Given the description of an element on the screen output the (x, y) to click on. 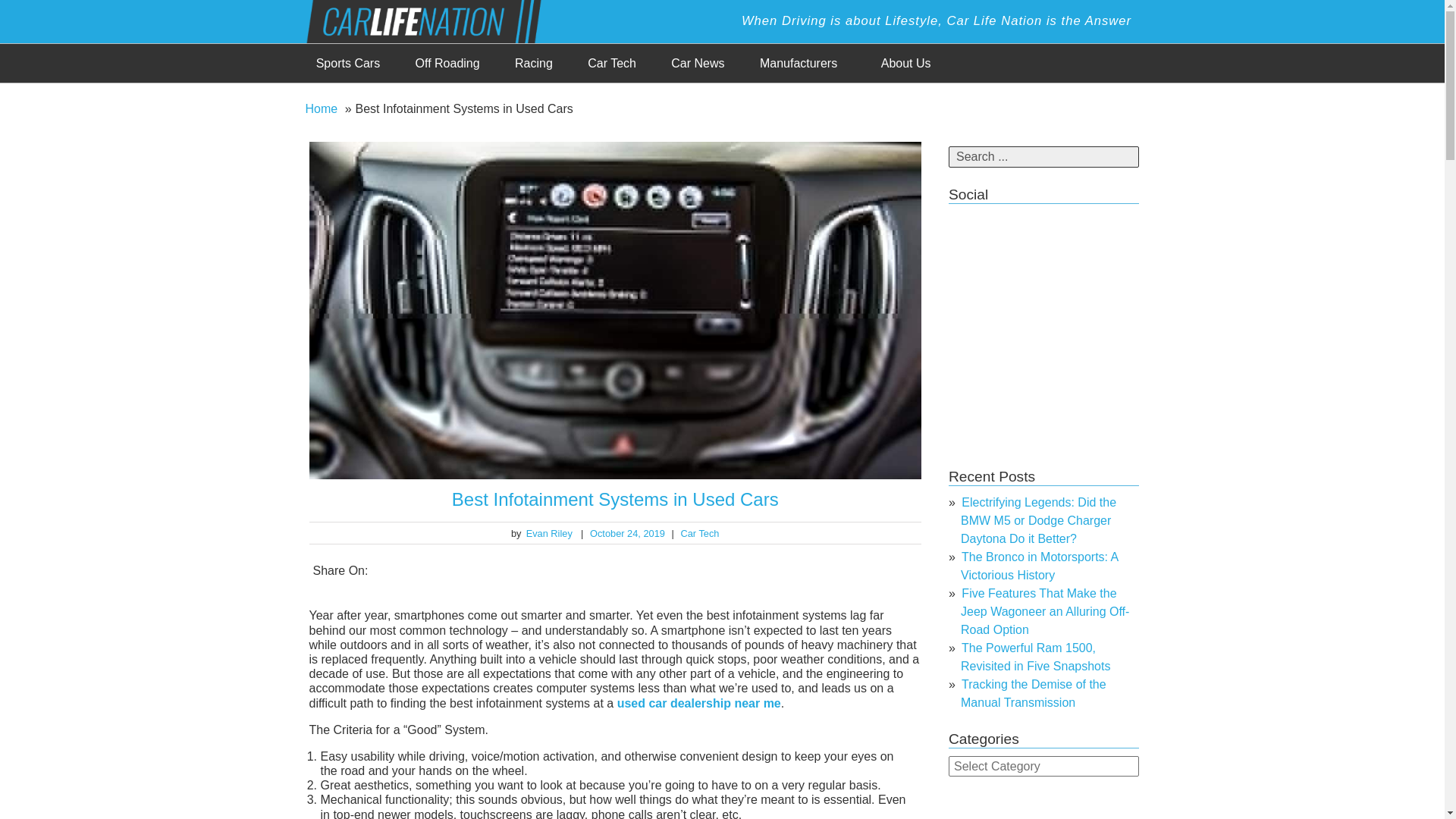
Car Life Nation Twitter (993, 223)
Racing (533, 63)
Car Life Nation (435, 20)
Share On Twitter (750, 568)
Car Life Nation Facebook (963, 223)
Car News (697, 63)
Off Roading (446, 63)
Share On Pinterest (871, 568)
Share On Facebook (719, 568)
Share On LinkedIn (780, 568)
